Given the description of an element on the screen output the (x, y) to click on. 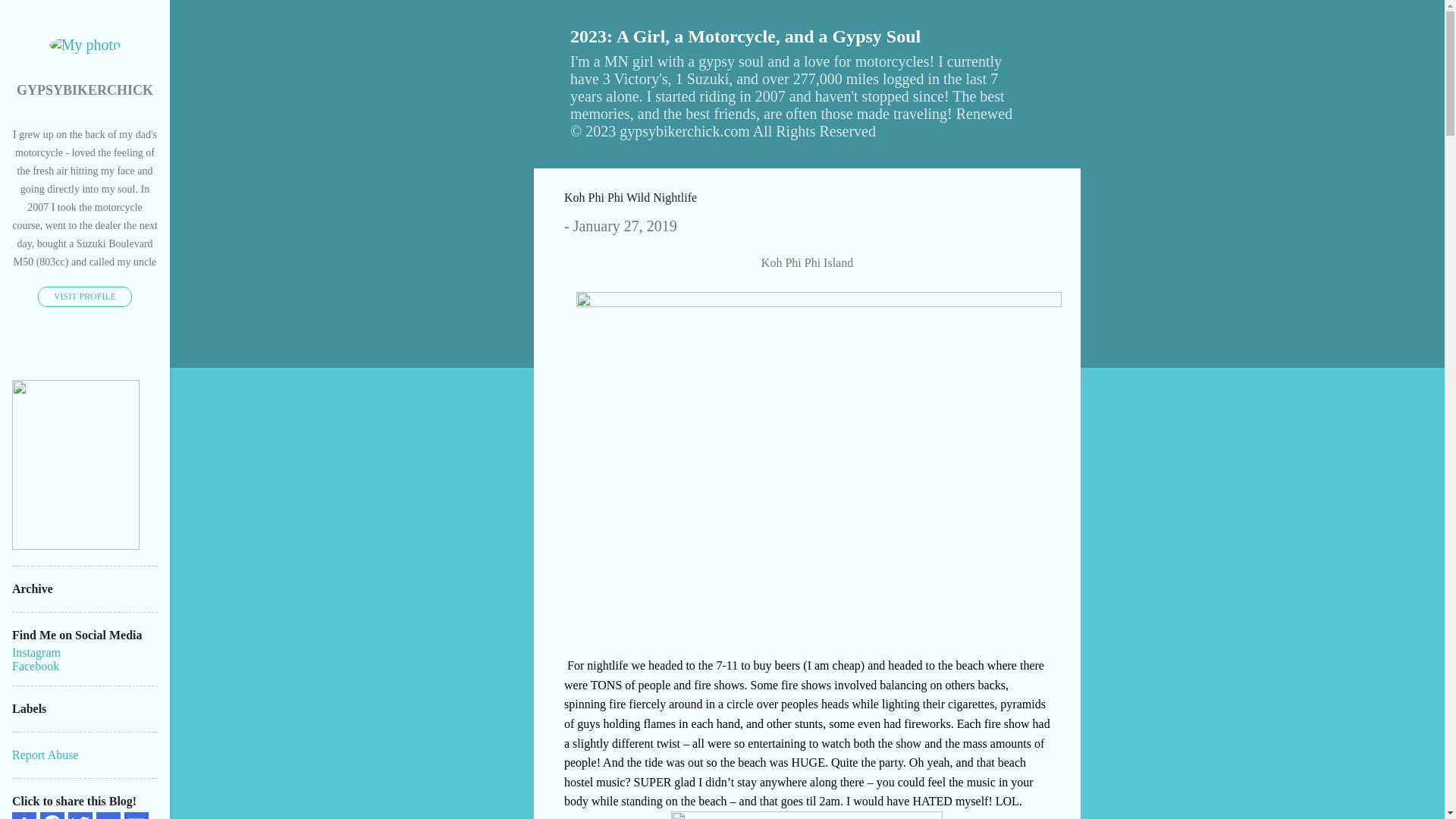
January 27, 2019 (625, 225)
Search (37, 18)
GYPSYBIKERCHICK (85, 89)
2023: A Girl, a Motorcycle, and a Gypsy Soul (745, 35)
permanent link (625, 225)
VISIT PROFILE (84, 296)
